Given the description of an element on the screen output the (x, y) to click on. 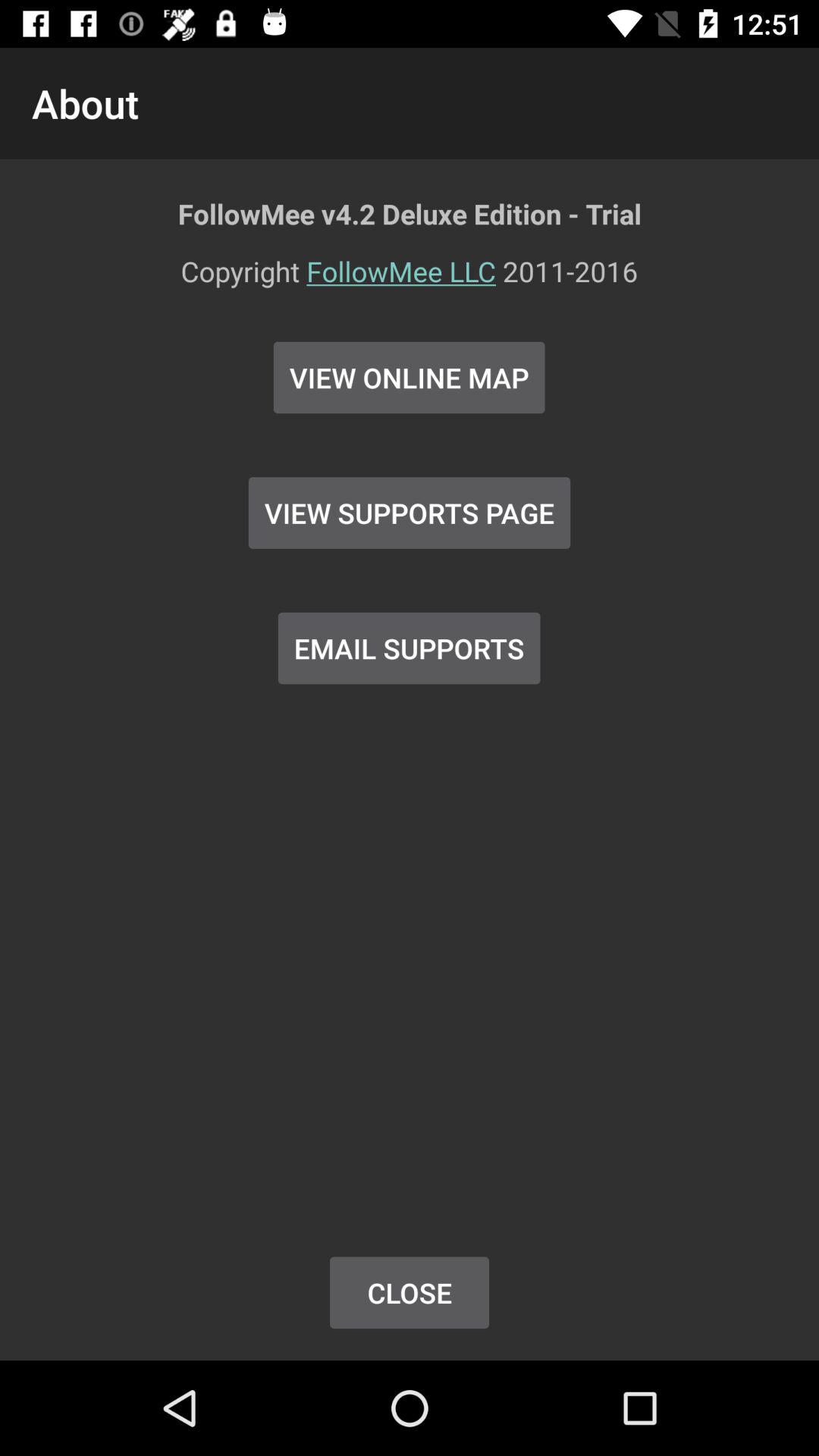
select view online map icon (408, 377)
